Given the description of an element on the screen output the (x, y) to click on. 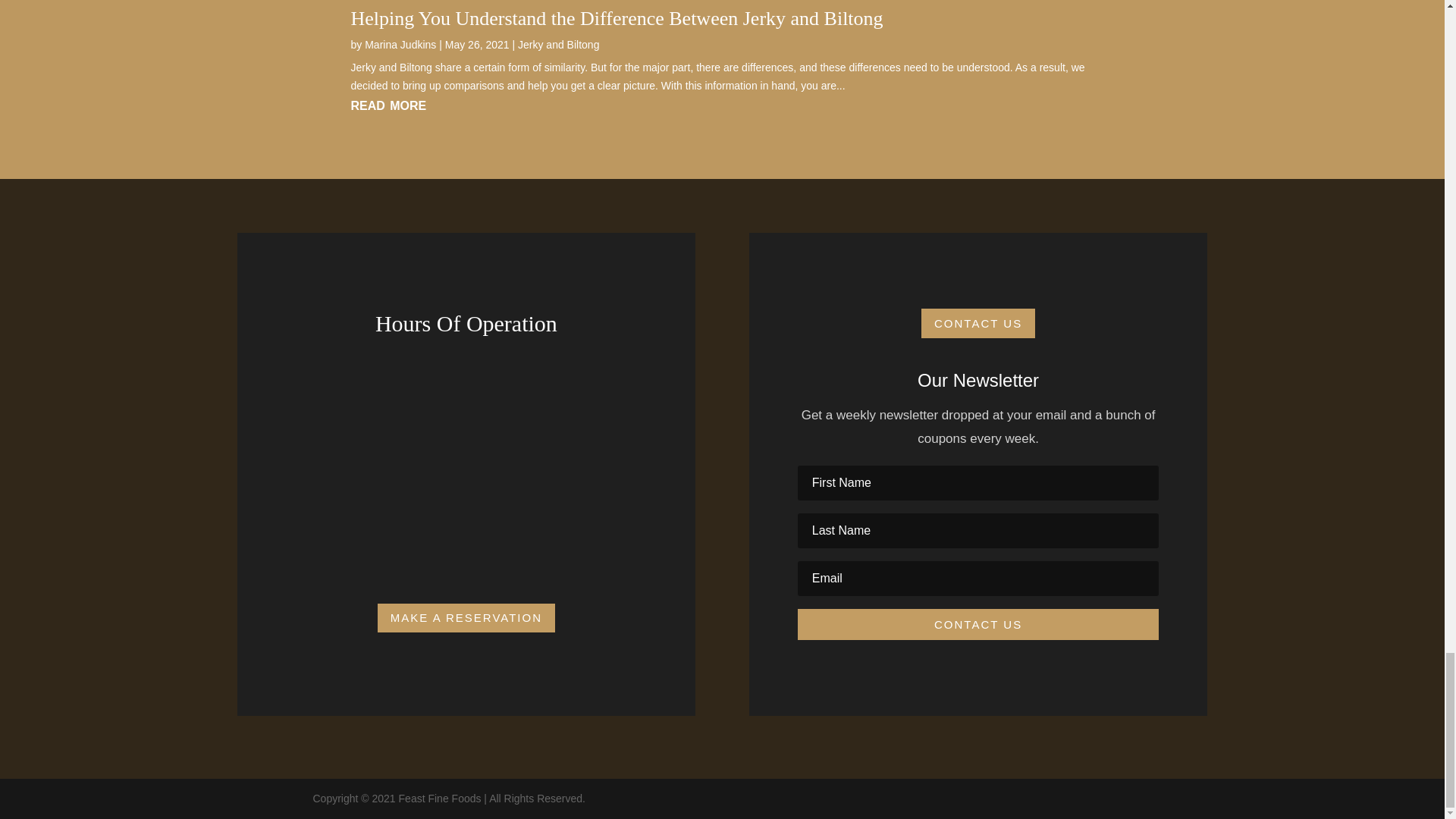
Jerky and Biltong (558, 44)
read more (721, 104)
Marina Judkins (400, 44)
Posts by Marina Judkins (400, 44)
CONTACT US (977, 624)
CONTACT US (978, 323)
MAKE A RESERVATION (465, 618)
